Given the description of an element on the screen output the (x, y) to click on. 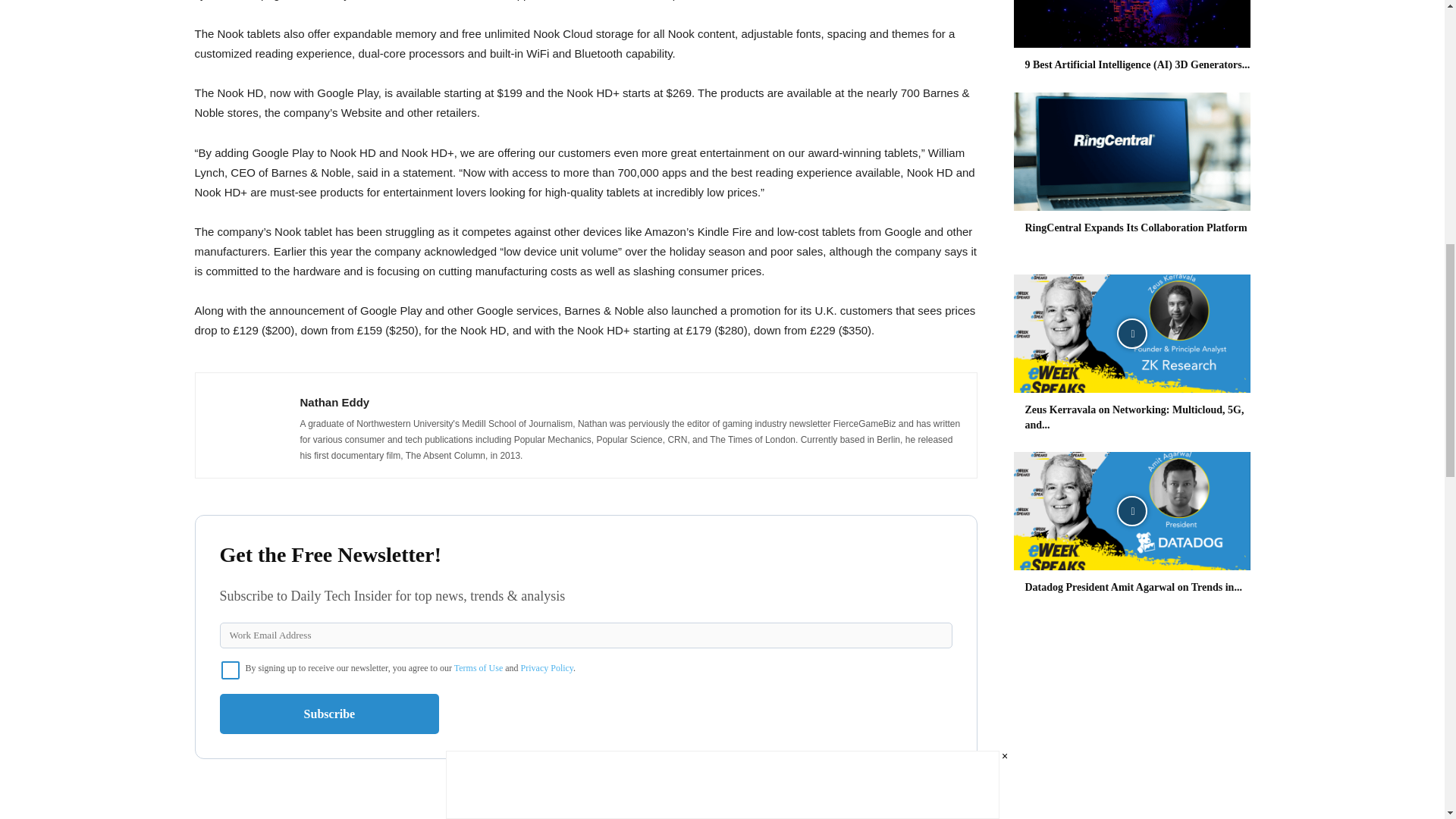
Zeus Kerravala on Networking: Multicloud, 5G, and Automation (1131, 333)
RingCentral Expands Its Collaboration Platform (1136, 227)
Zeus Kerravala on Networking: Multicloud, 5G, and Automation (1134, 417)
on (230, 669)
RingCentral Expands Its Collaboration Platform (1131, 151)
